Given the description of an element on the screen output the (x, y) to click on. 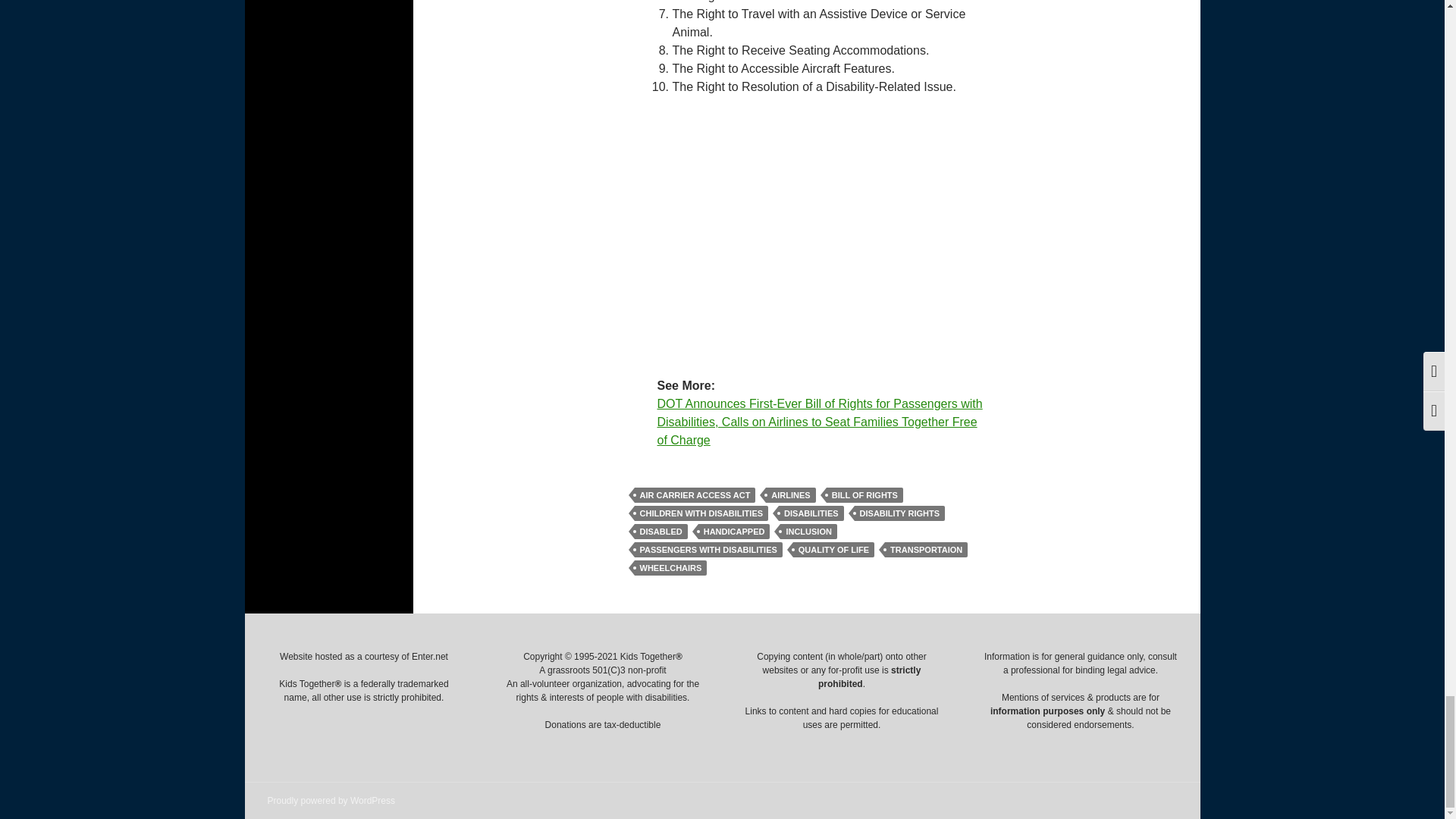
YouTube video player (805, 233)
